Given the description of an element on the screen output the (x, y) to click on. 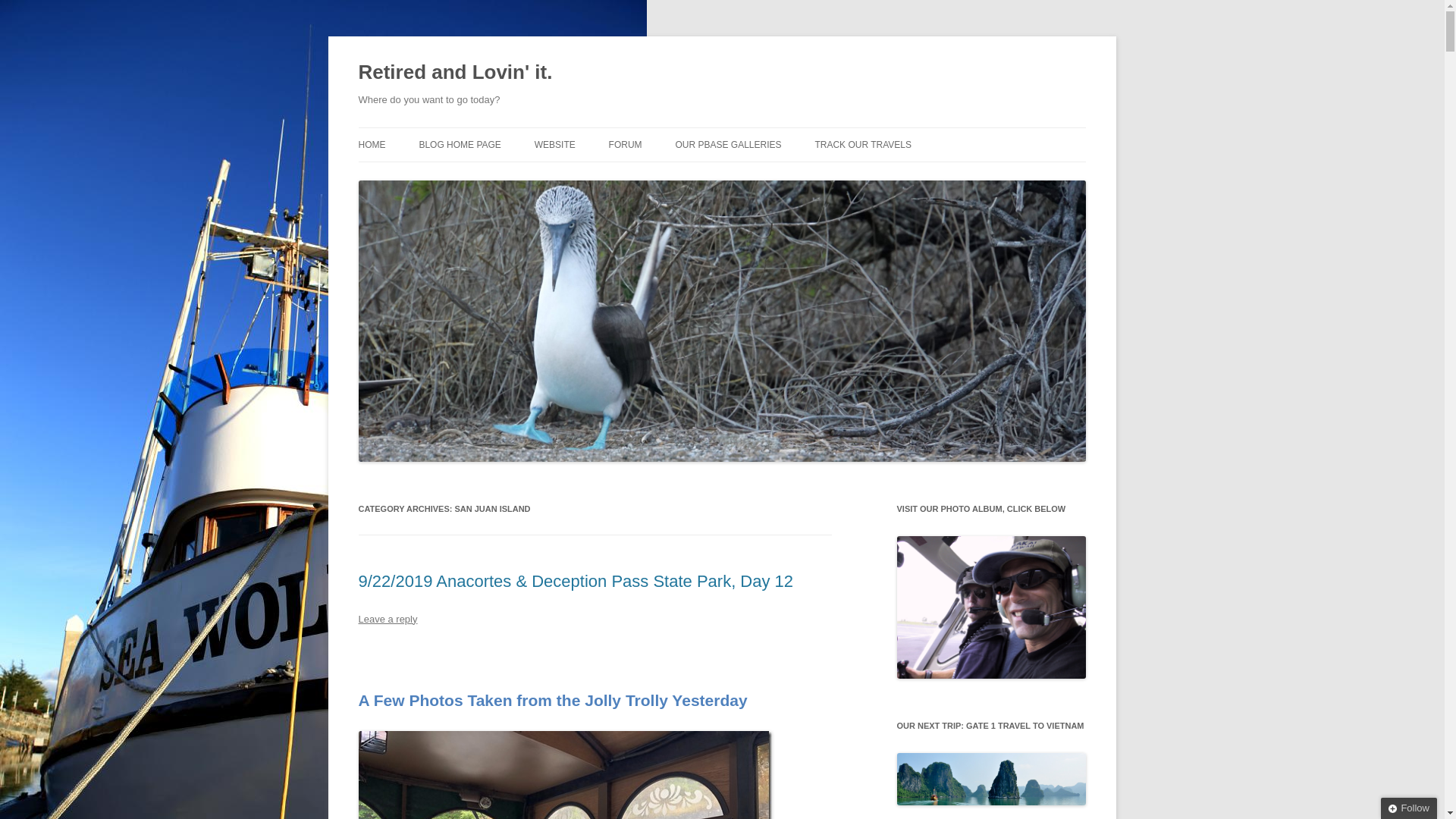
Leave a reply (387, 618)
FORUM (625, 144)
TRACK OUR TRAVELS (862, 144)
OUR PBASE GALLERIES (727, 144)
BLOG HOME PAGE (459, 144)
WEBSITE (554, 144)
Retired and Lovin' it. (454, 72)
Retired and Lovin' it. (454, 72)
